Given the description of an element on the screen output the (x, y) to click on. 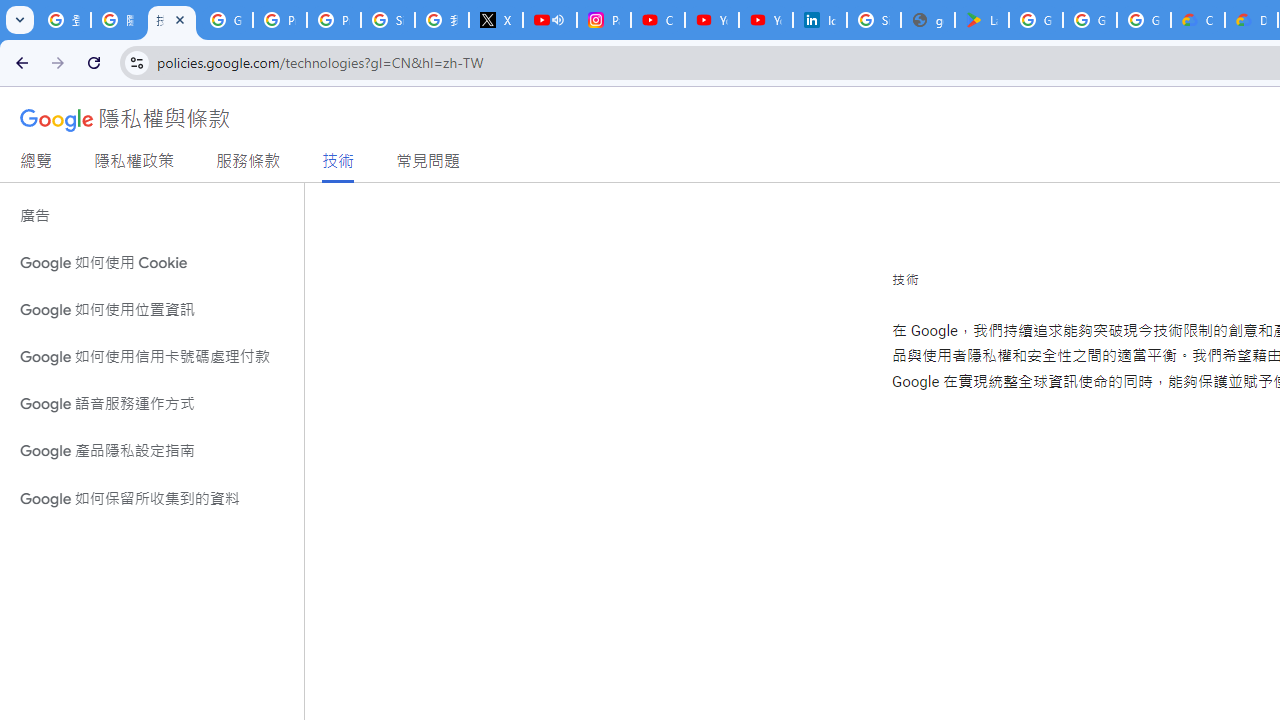
YouTube Culture & Trends - YouTube Top 10, 2021 (765, 20)
Privacy Help Center - Policies Help (333, 20)
X (495, 20)
Sign in - Google Accounts (387, 20)
